Given the description of an element on the screen output the (x, y) to click on. 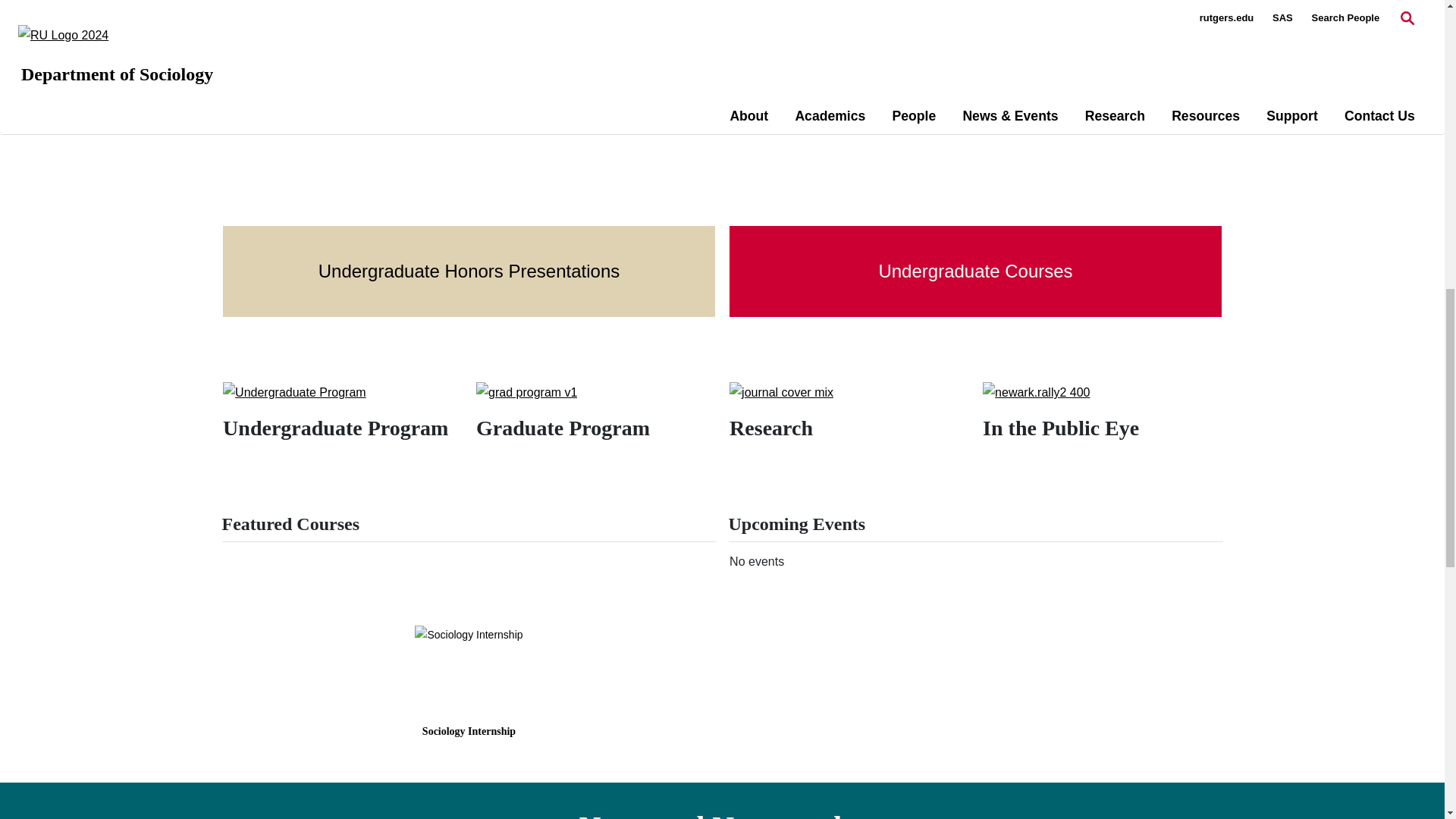
CONTENTS OF THE HANDBOOK (339, 64)
 Sociology Internship (468, 731)
VI. QUALIFYING PAPERS (317, 21)
APPENDIX D: RESOURCES (324, 85)
 Sociology Internship (468, 634)
